Given the description of an element on the screen output the (x, y) to click on. 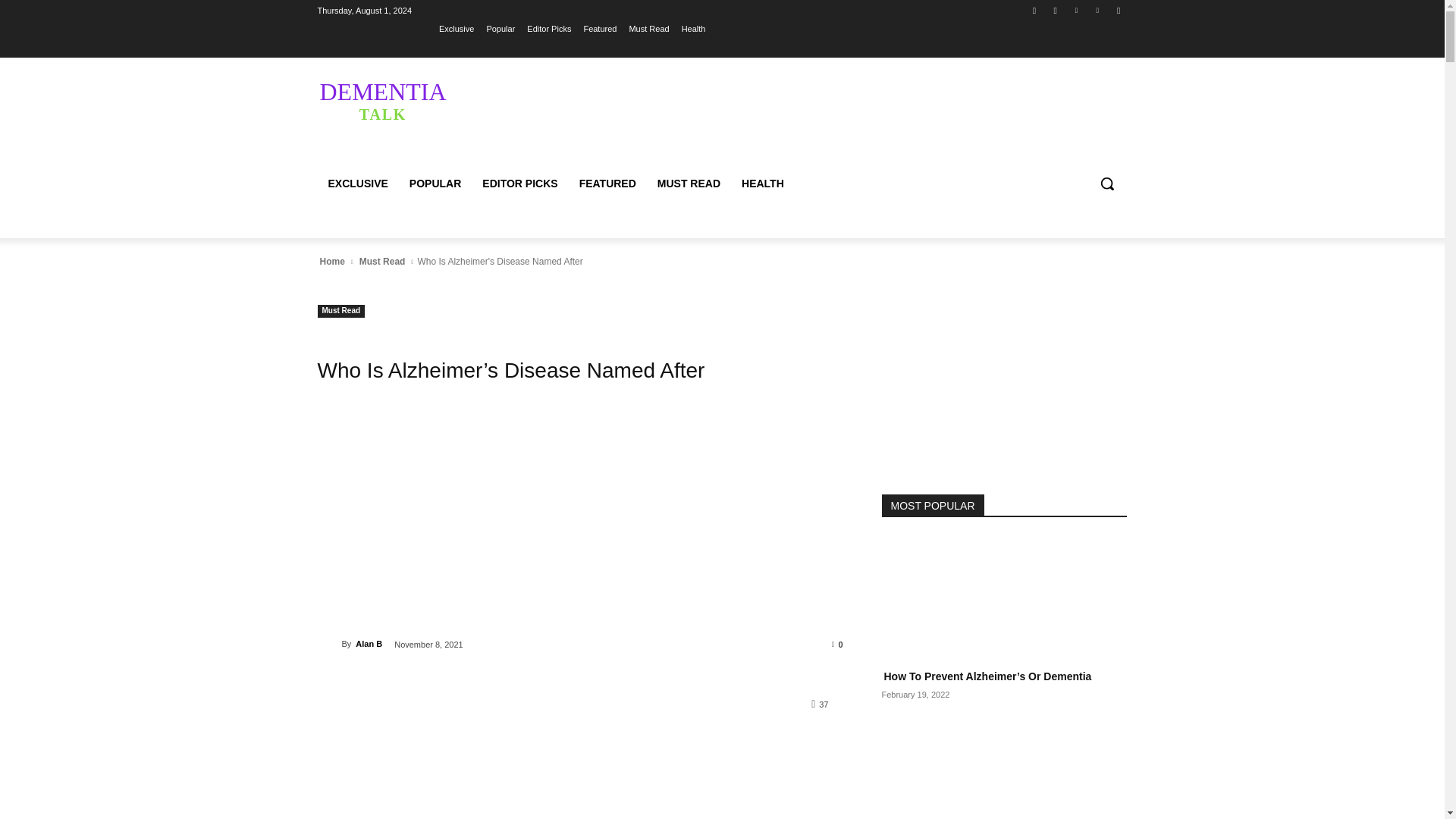
View all posts in Must Read (381, 261)
POPULAR (434, 183)
Must Read (341, 310)
Popular (500, 28)
Vimeo (1097, 9)
Exclusive (425, 100)
HEALTH (456, 28)
Editor Picks (762, 183)
Health (548, 28)
